Given the description of an element on the screen output the (x, y) to click on. 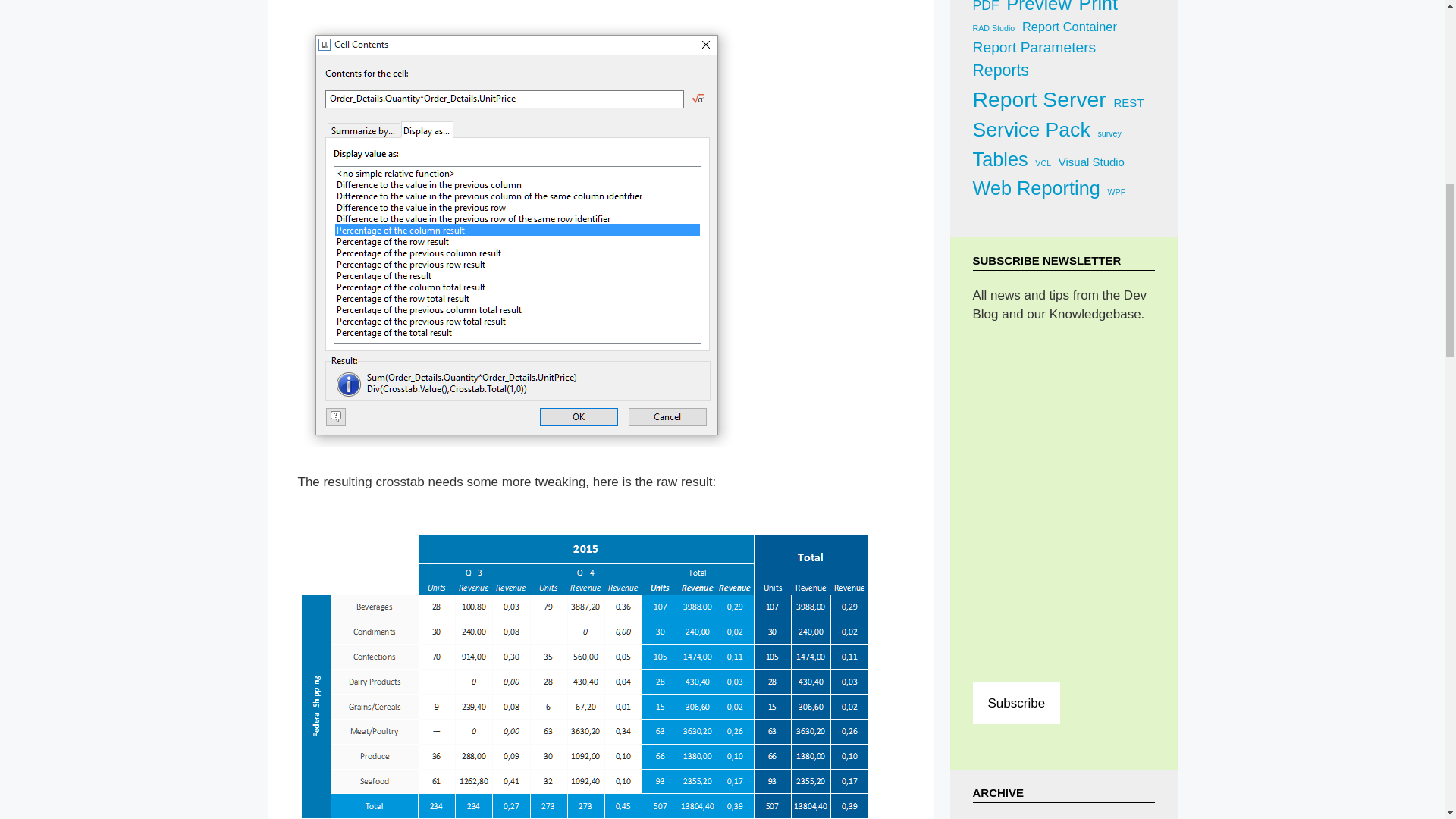
Scroll back to top (1406, 720)
